Given the description of an element on the screen output the (x, y) to click on. 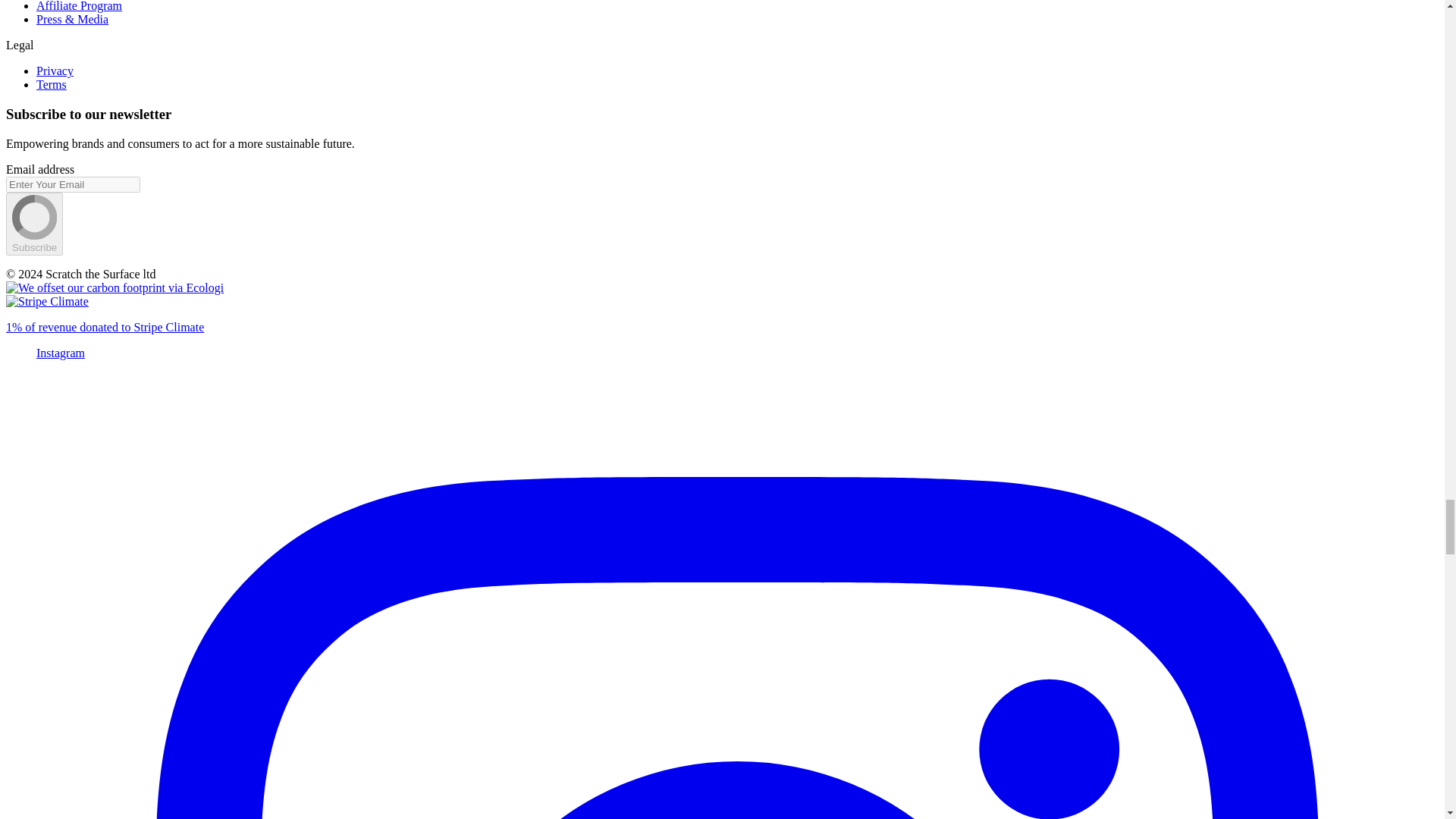
View our Ecologi profile (114, 287)
